Given the description of an element on the screen output the (x, y) to click on. 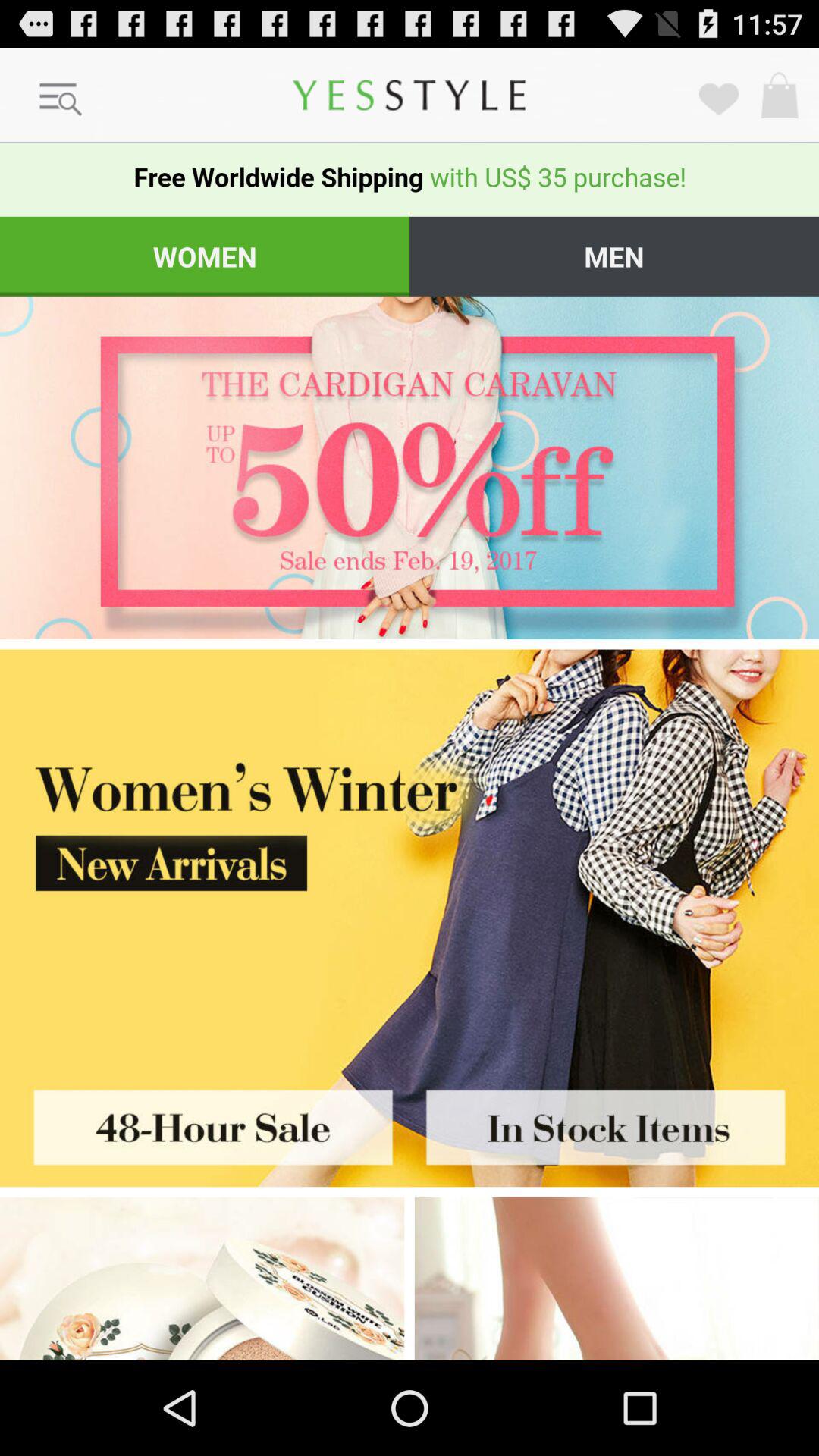
adventisment page (202, 1278)
